Given the description of an element on the screen output the (x, y) to click on. 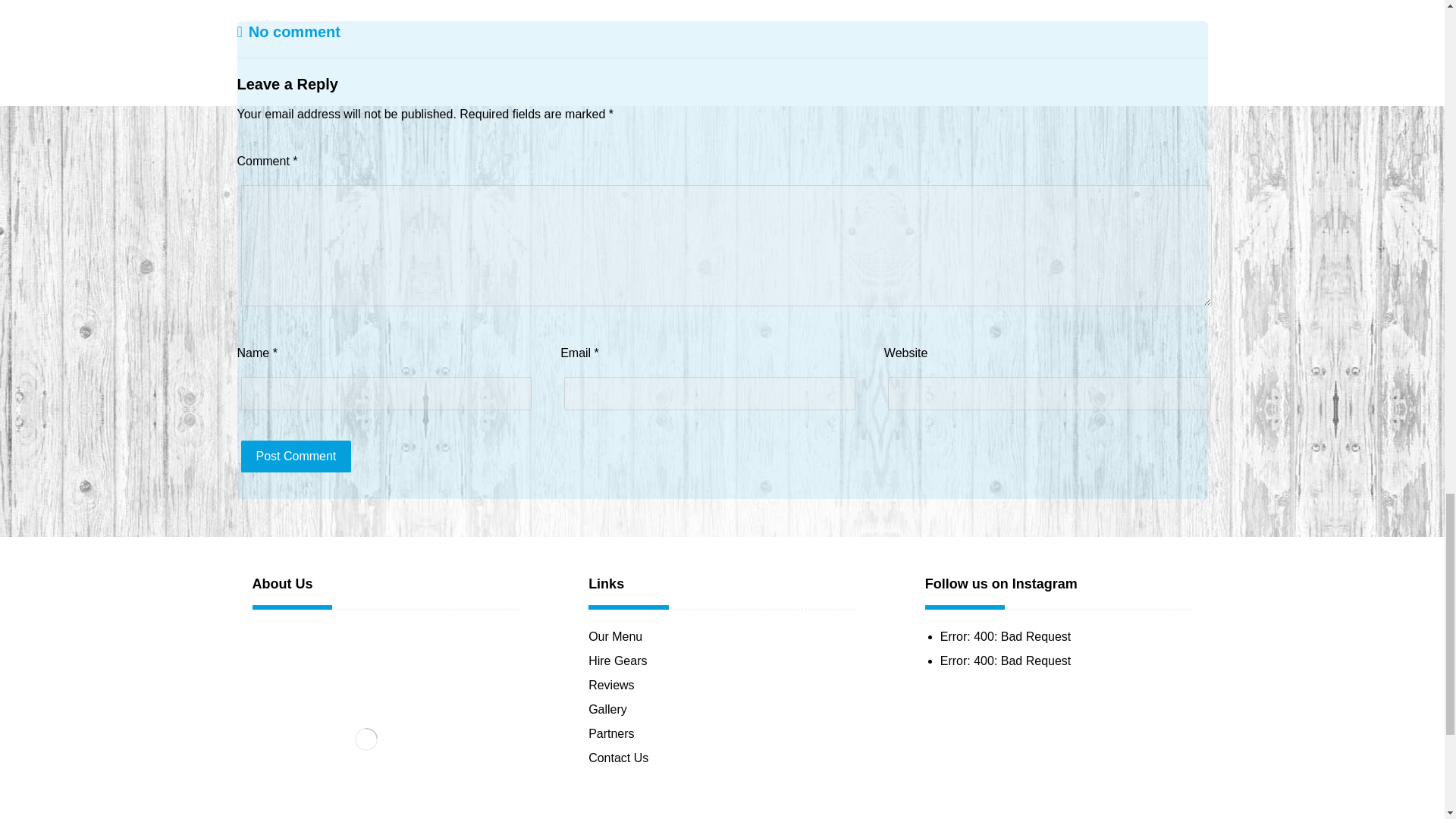
Post Comment (296, 456)
